Given the description of an element on the screen output the (x, y) to click on. 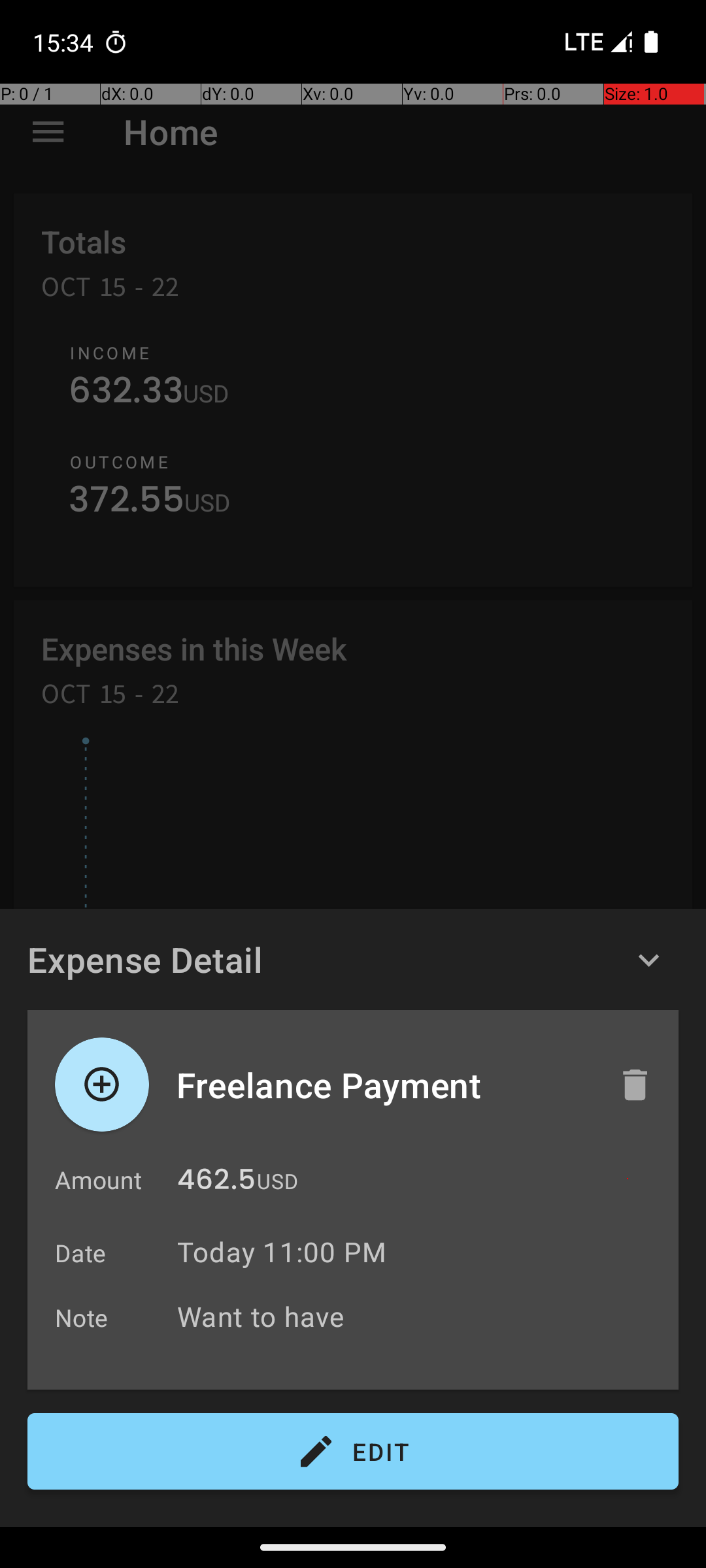
462.5 Element type: android.widget.TextView (216, 1182)
Today 11:00 PM Element type: android.widget.TextView (281, 1251)
Want to have Element type: android.widget.TextView (420, 1315)
